Given the description of an element on the screen output the (x, y) to click on. 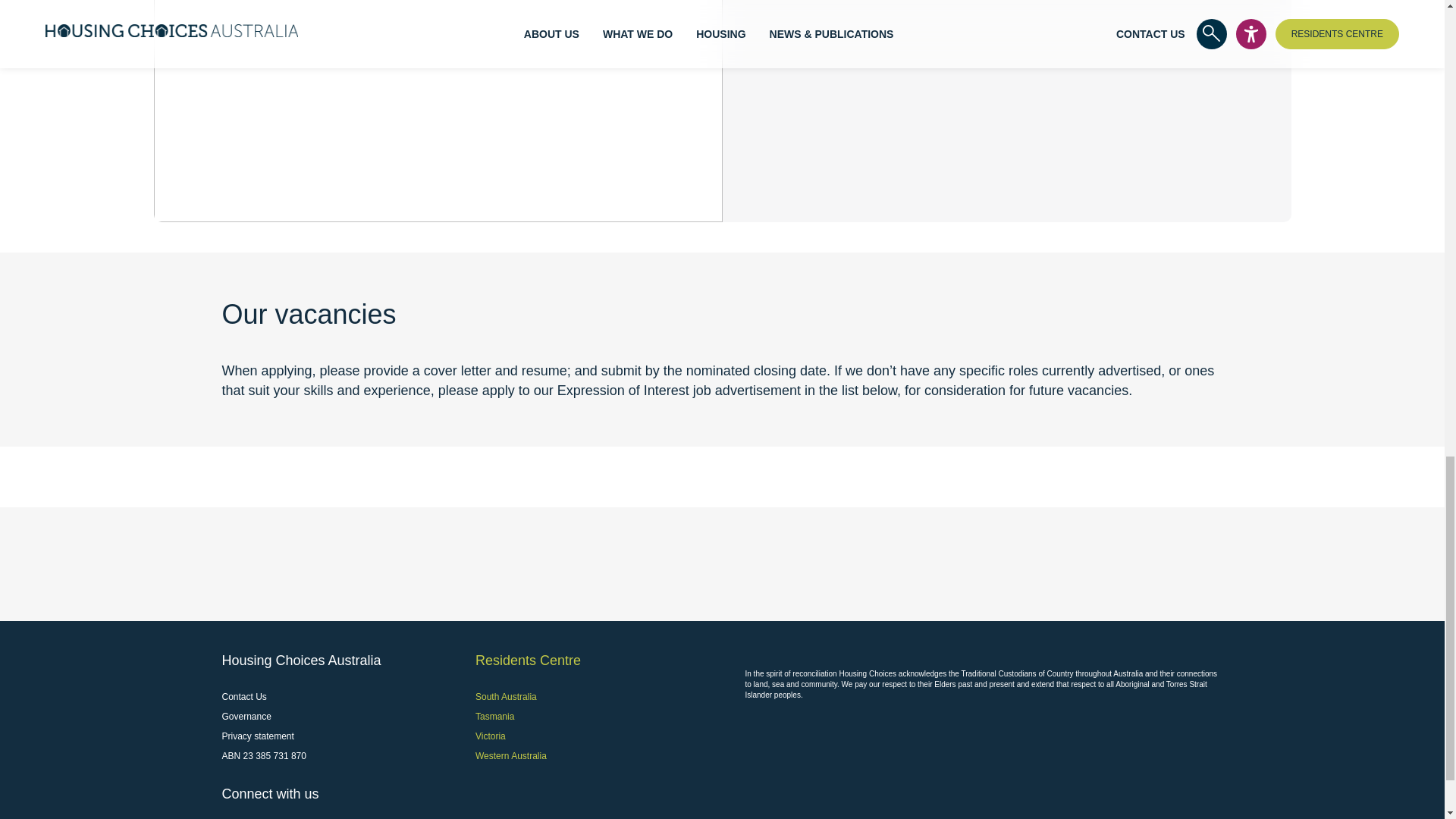
Contact Us (243, 696)
Governance (245, 716)
Privacy statement (257, 736)
